Given the description of an element on the screen output the (x, y) to click on. 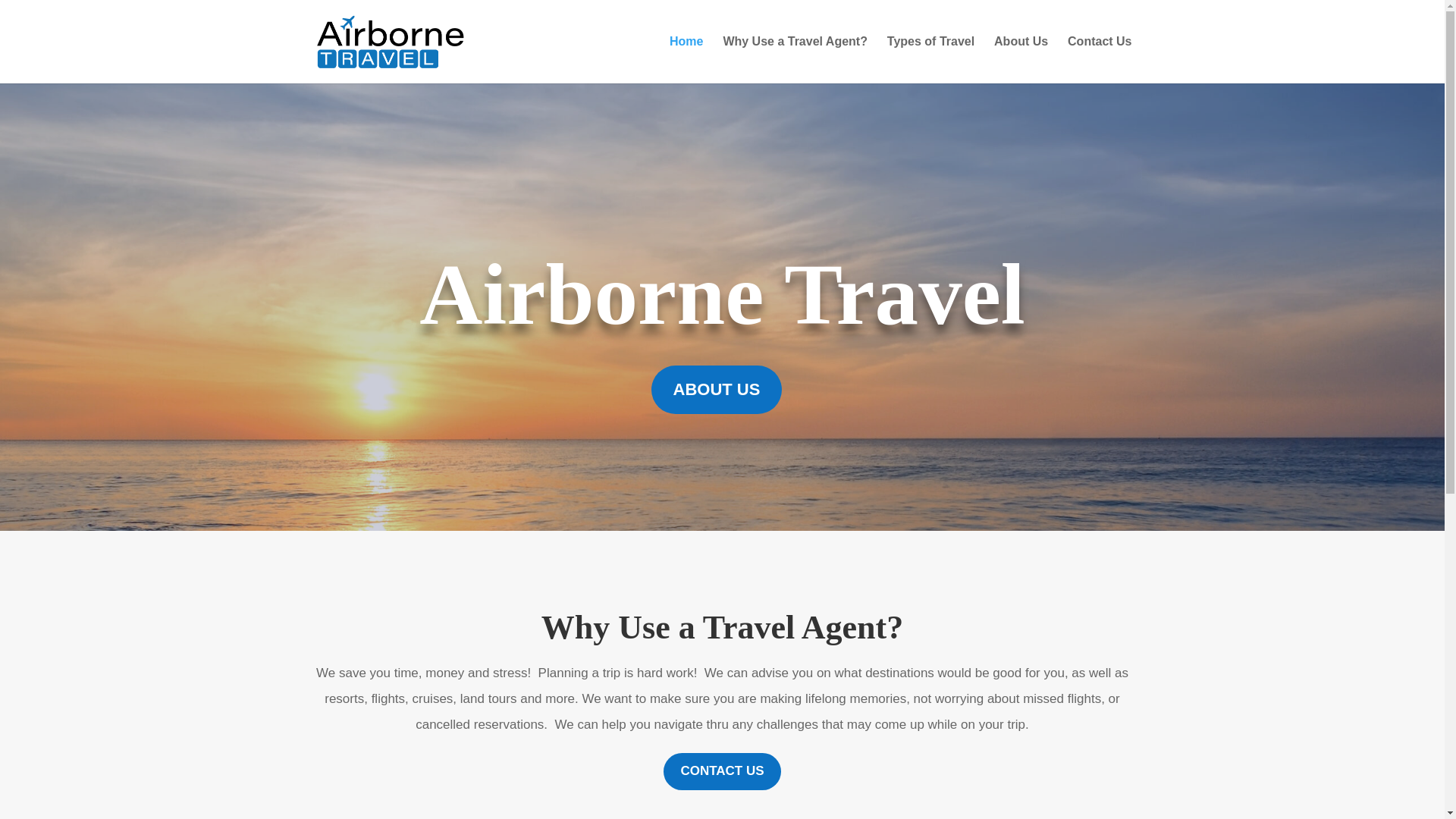
Why Use a Travel Agent? (794, 59)
Types of Travel (930, 59)
Contact Us (1099, 59)
About Us (1021, 59)
ABOUT US (716, 389)
CONTACT US (721, 771)
